Given the description of an element on the screen output the (x, y) to click on. 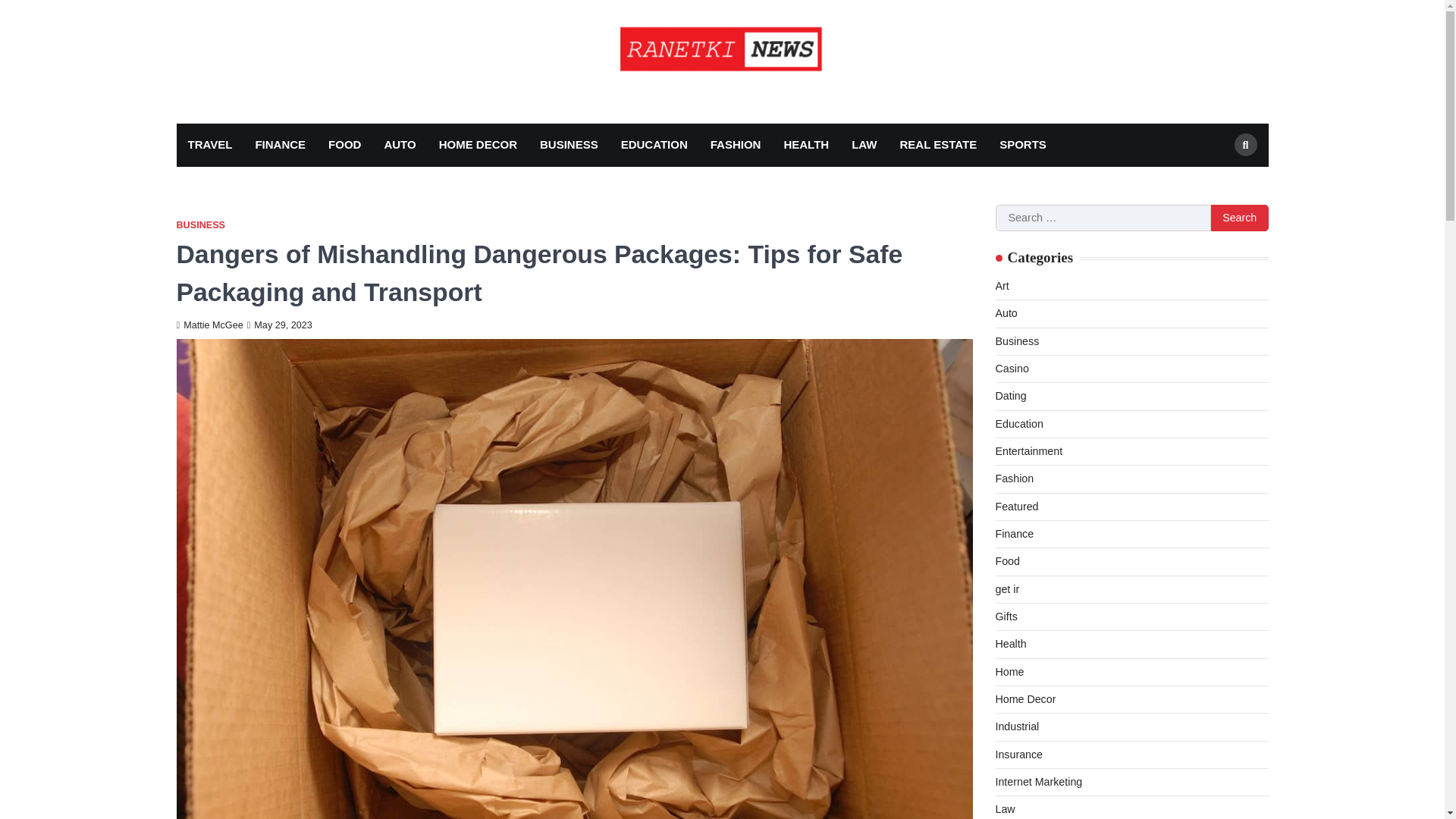
HOME DECOR (478, 145)
Dating (1010, 395)
Search (1239, 217)
AUTO (399, 145)
Featured (1016, 506)
REAL ESTATE (938, 145)
Search (1245, 144)
EDUCATION (654, 145)
Search (1217, 180)
Education (1018, 423)
